Given the description of an element on the screen output the (x, y) to click on. 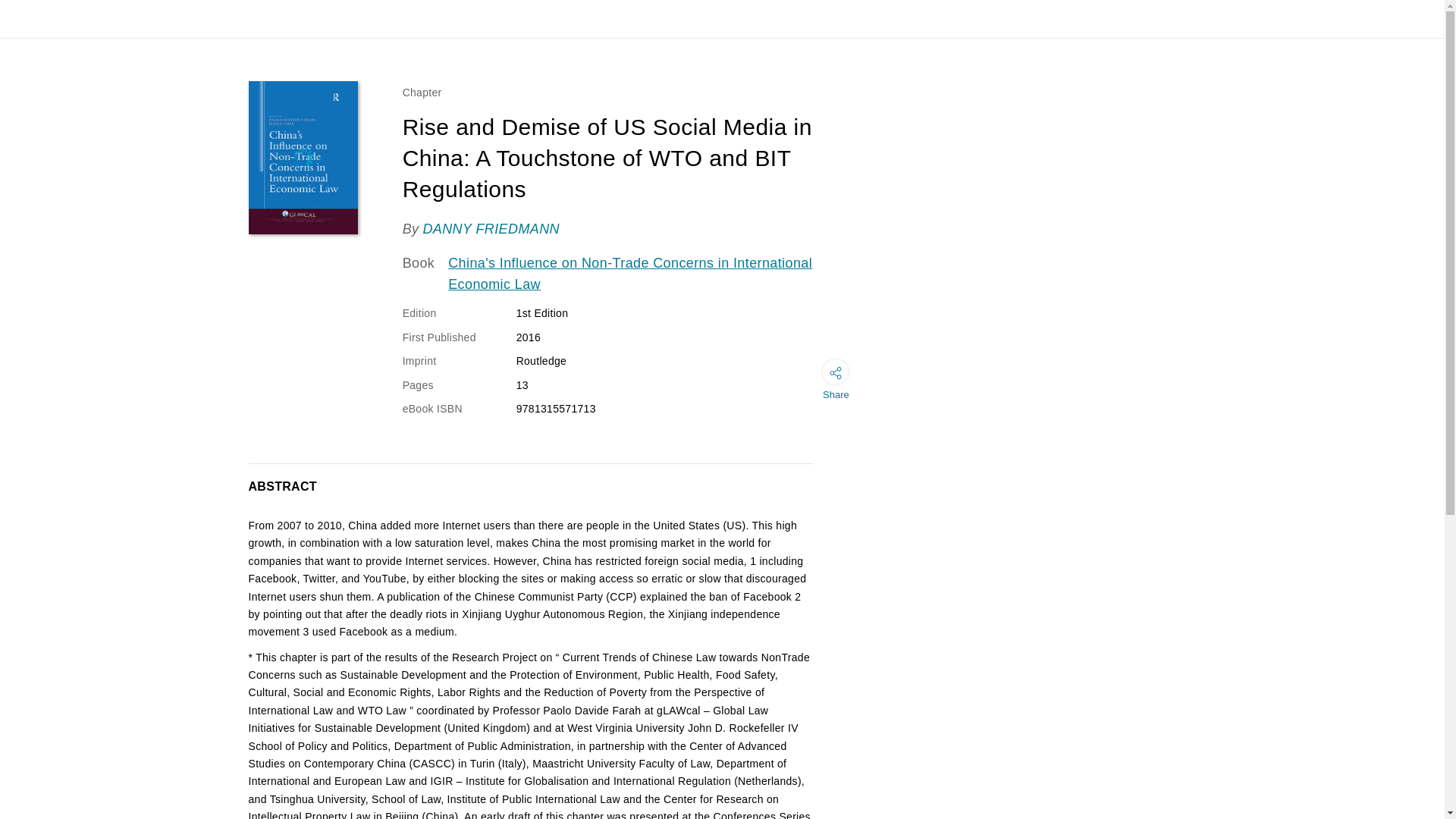
DANNY FRIEDMANN (490, 228)
